Given the description of an element on the screen output the (x, y) to click on. 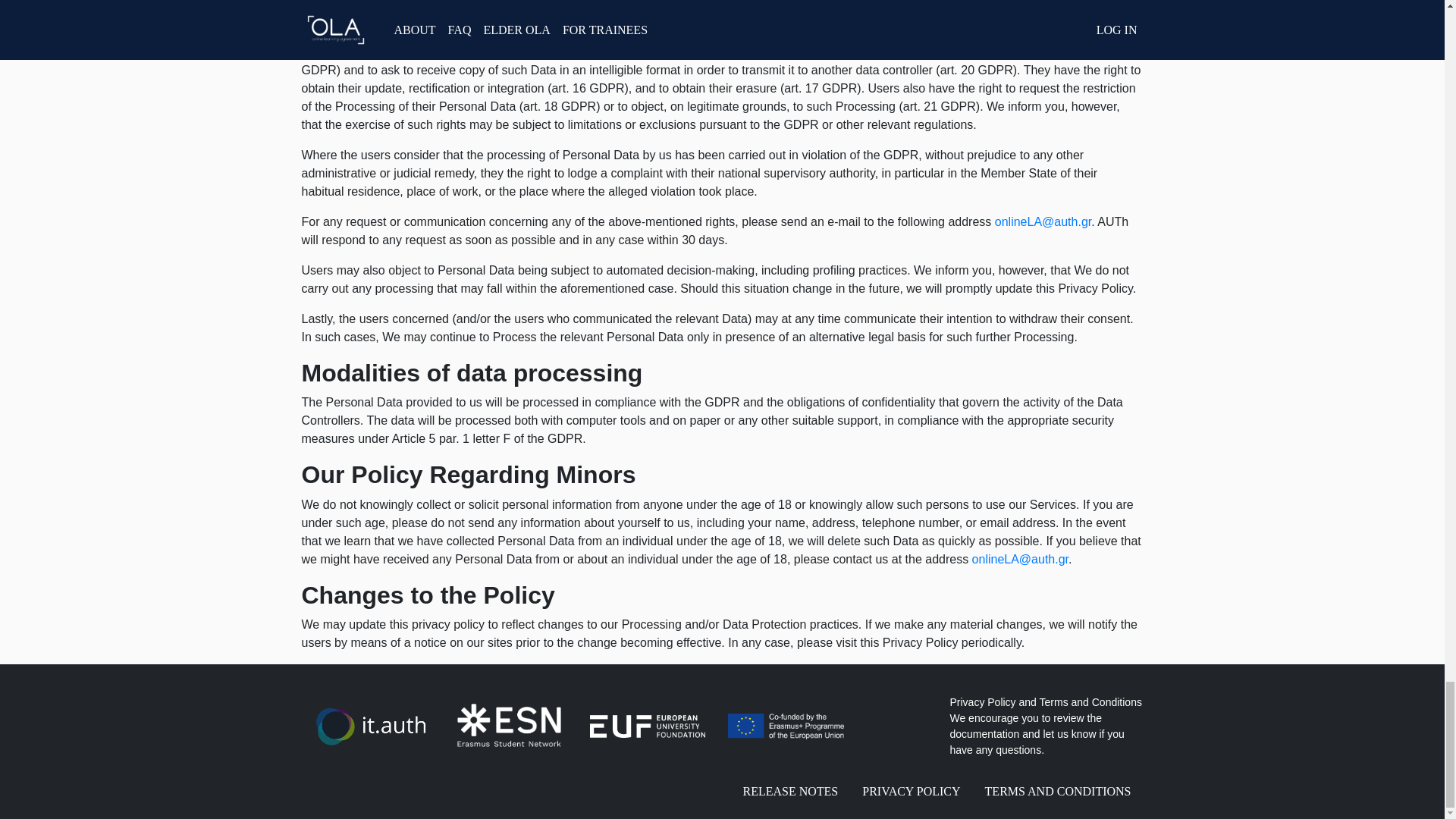
Privacy Policy (981, 702)
RELEASE NOTES (790, 791)
TERMS AND CONDITIONS (1057, 791)
PRIVACY POLICY (911, 791)
Terms and Conditions (1090, 702)
